Given the description of an element on the screen output the (x, y) to click on. 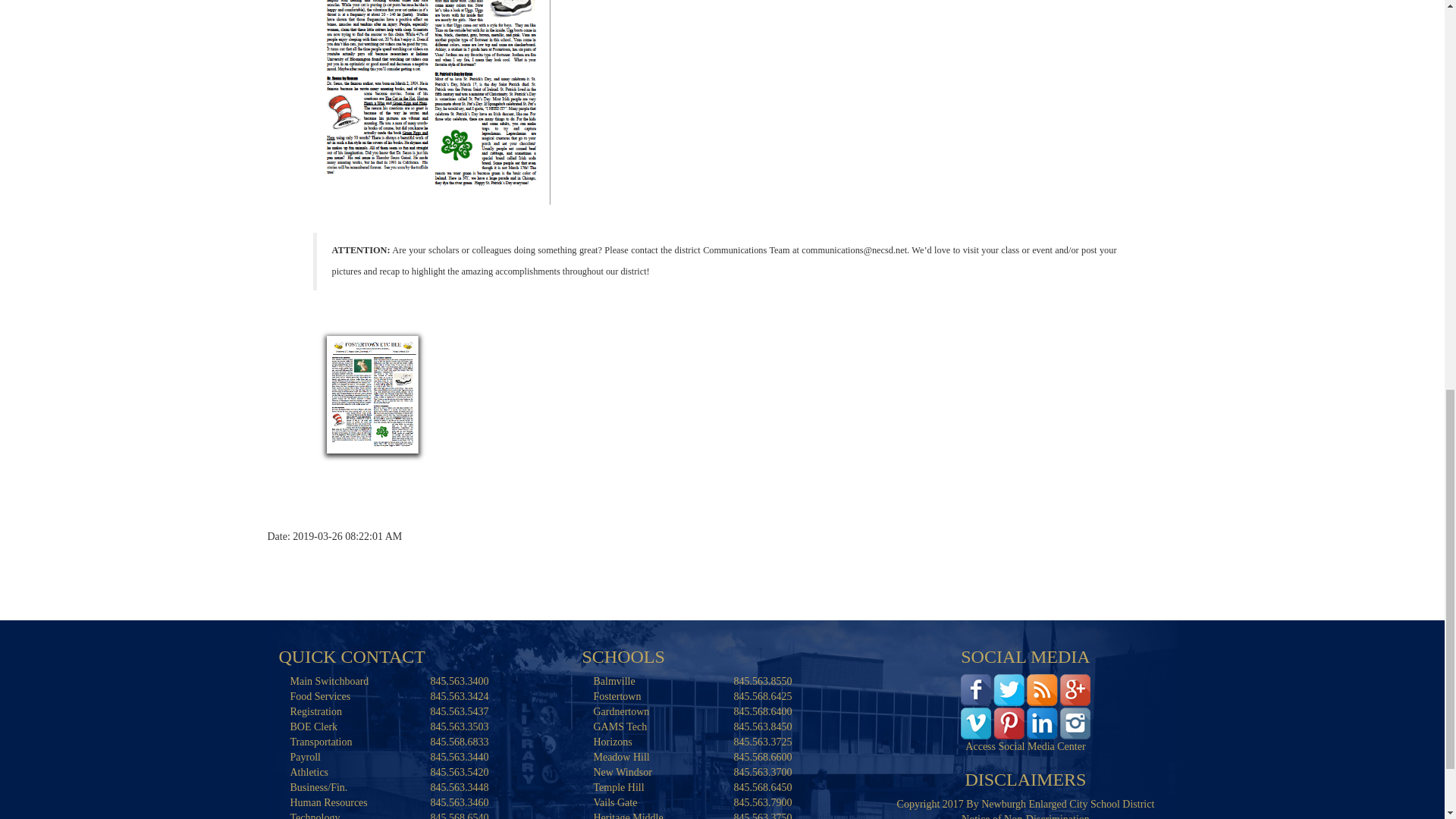
Access Social Media Center (1025, 705)
